Given the description of an element on the screen output the (x, y) to click on. 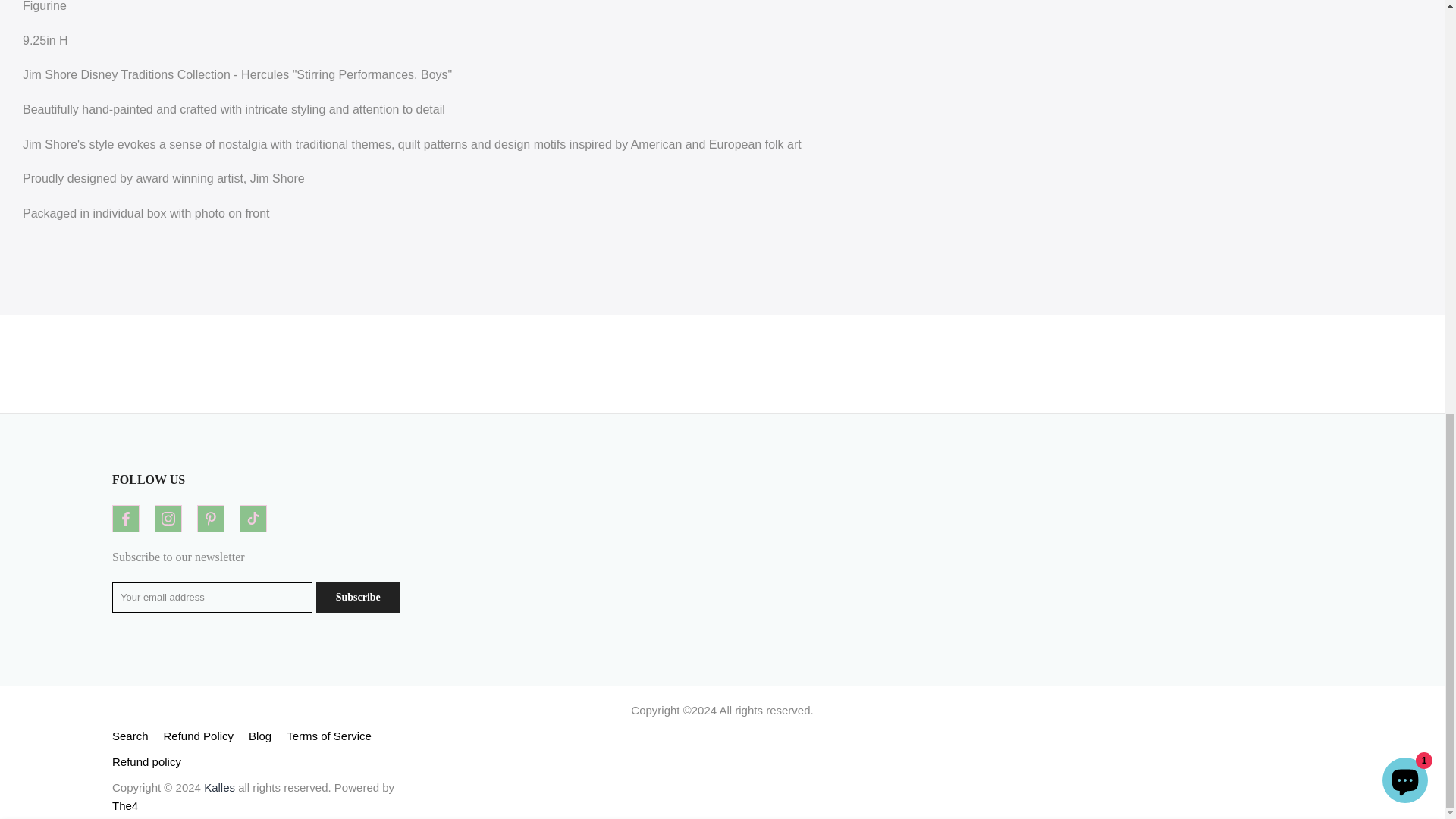
Follow on Pinterest (210, 518)
Follow on Instagram (168, 518)
Follow on Facebook (125, 518)
Follow on Tiktok (253, 518)
1 (892, 18)
